Given the description of an element on the screen output the (x, y) to click on. 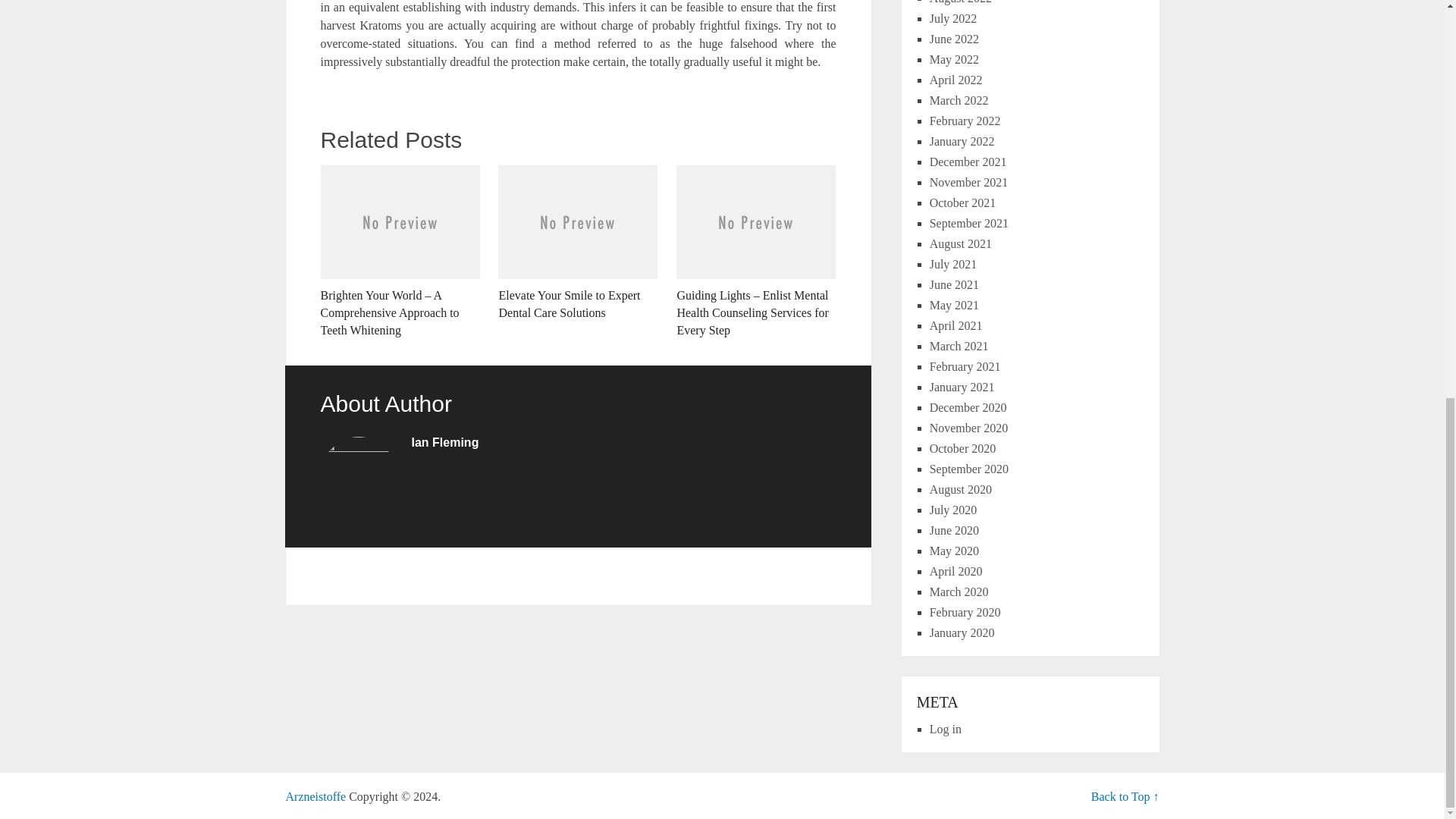
Elevate Your Smile to Expert Dental Care Solutions (577, 243)
Elevate Your Smile to Expert Dental Care Solutions (577, 243)
